Given the description of an element on the screen output the (x, y) to click on. 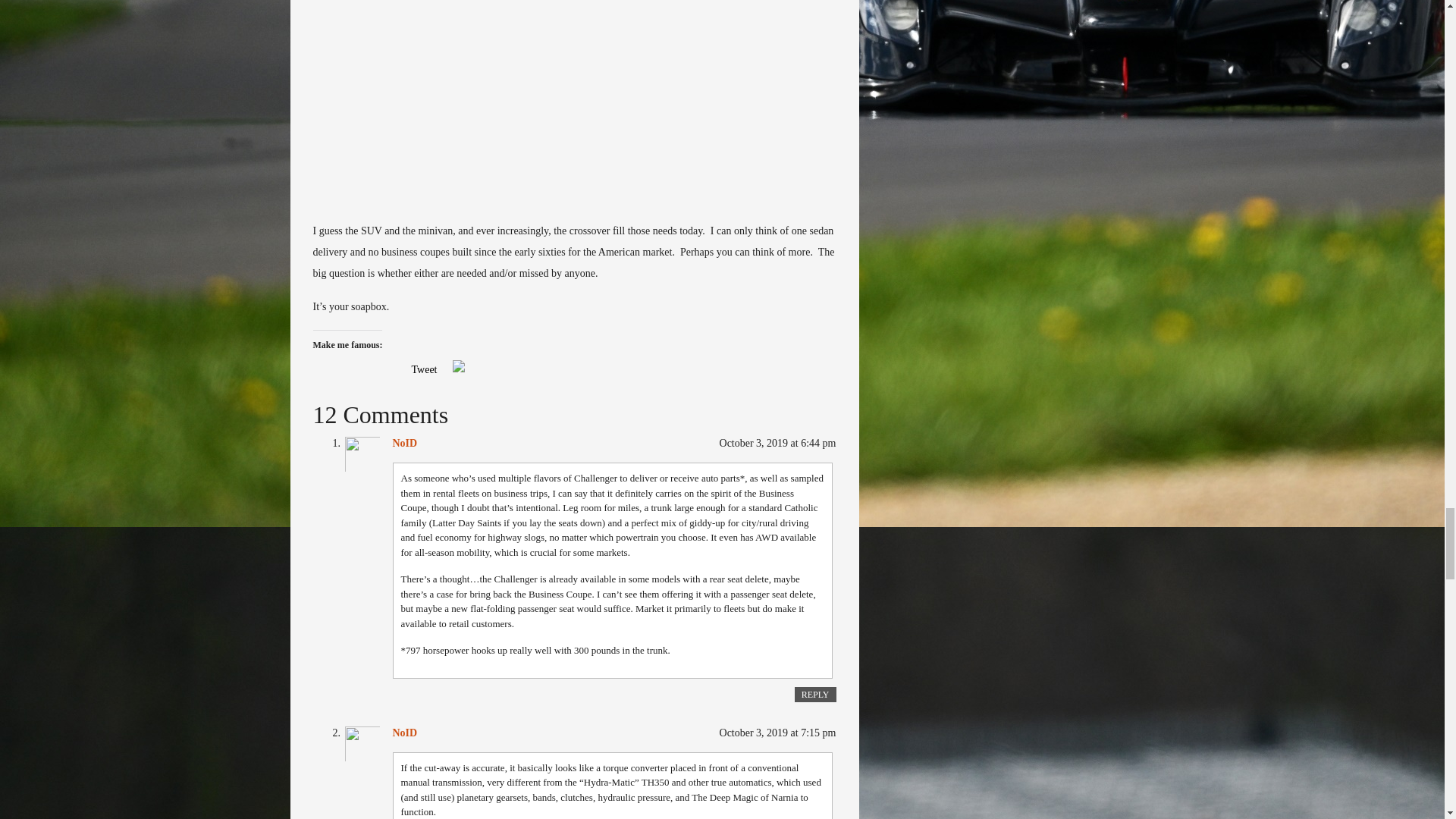
Dodge Coupe-Utility (573, 104)
October 3, 2019 at 7:15 pm (777, 732)
Tweet (423, 369)
October 3, 2019 at 6:44 pm (777, 442)
REPLY (814, 694)
